Given the description of an element on the screen output the (x, y) to click on. 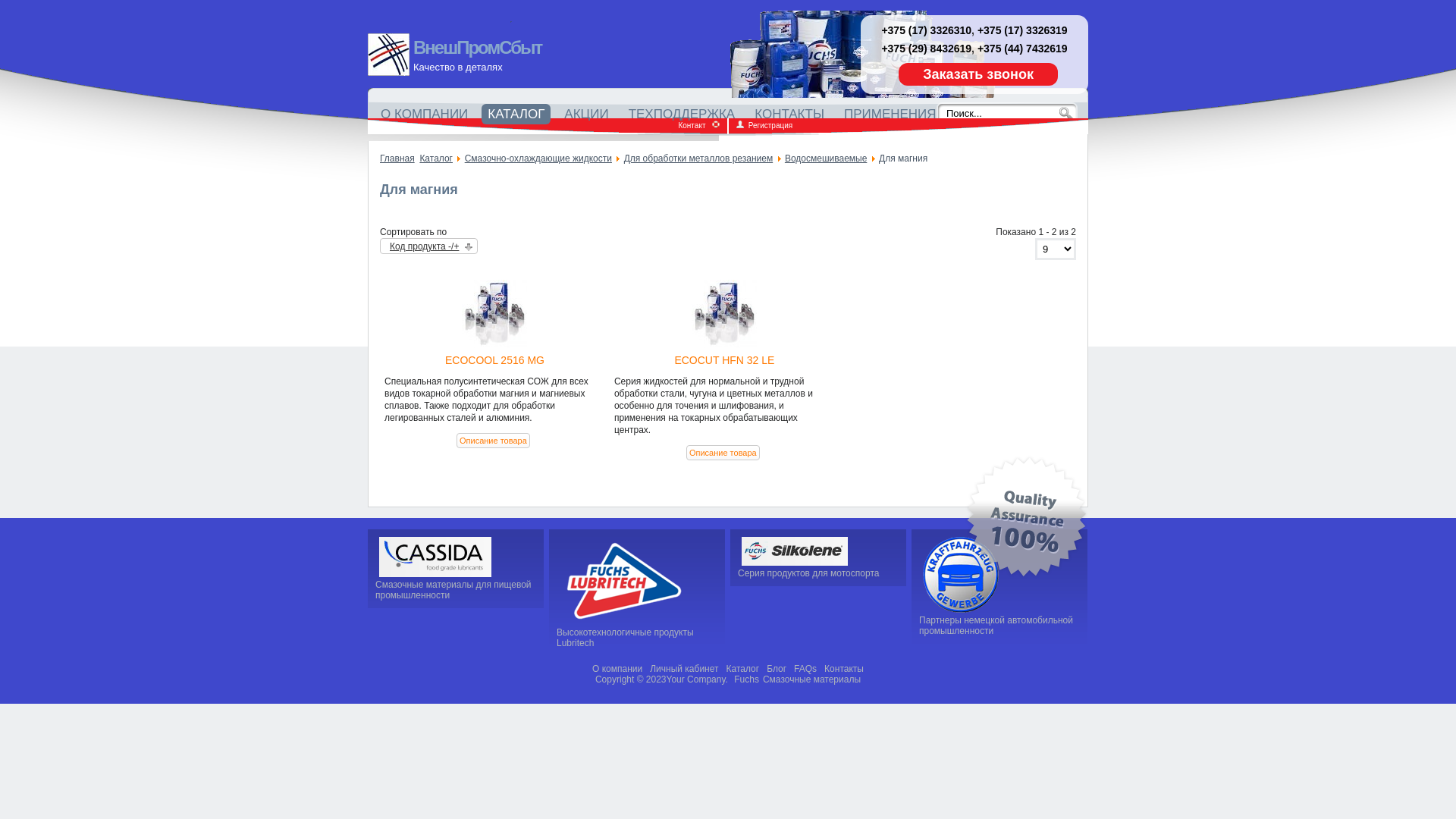
l Element type: hover (623, 621)
r Element type: hover (960, 609)
ECOCUT HFN 32 LE Element type: hover (723, 313)
c Element type: hover (435, 573)
+375 (44) 7432619 Element type: text (1022, 48)
Fuchs Element type: text (746, 679)
ECOCOOL 2516 MG Element type: text (494, 360)
s Element type: hover (794, 562)
+375 (17) 3326319 Element type: text (1022, 30)
+375 (29) 8432619 Element type: text (926, 48)
FAQs Element type: text (805, 668)
ECOCUT HFN 32 LE Element type: text (724, 360)
+375 (17) 3326310 Element type: text (926, 30)
ECOCOOL 2516 MG Element type: hover (494, 313)
